Given the description of an element on the screen output the (x, y) to click on. 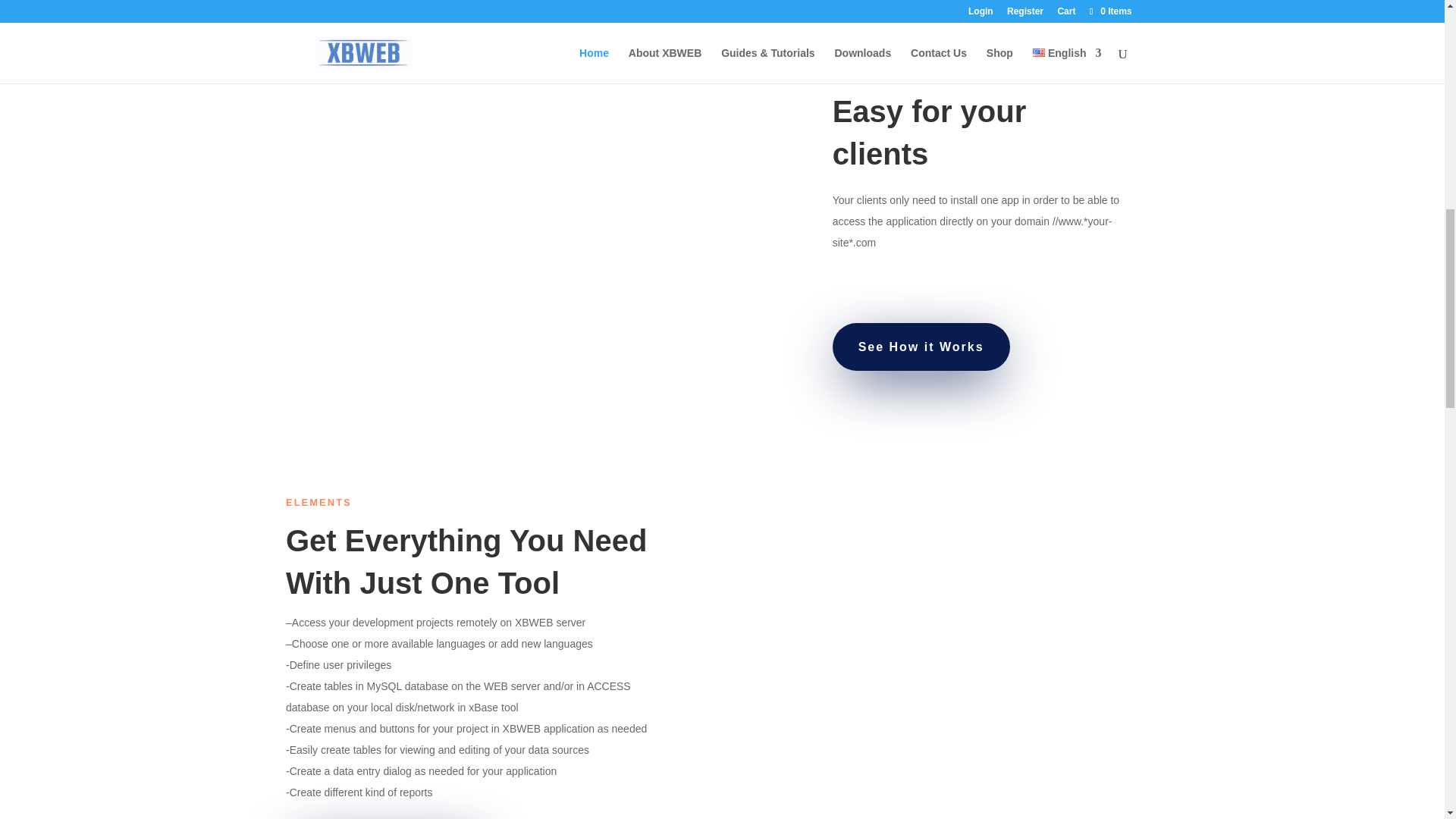
See How it Works (921, 346)
